Given the description of an element on the screen output the (x, y) to click on. 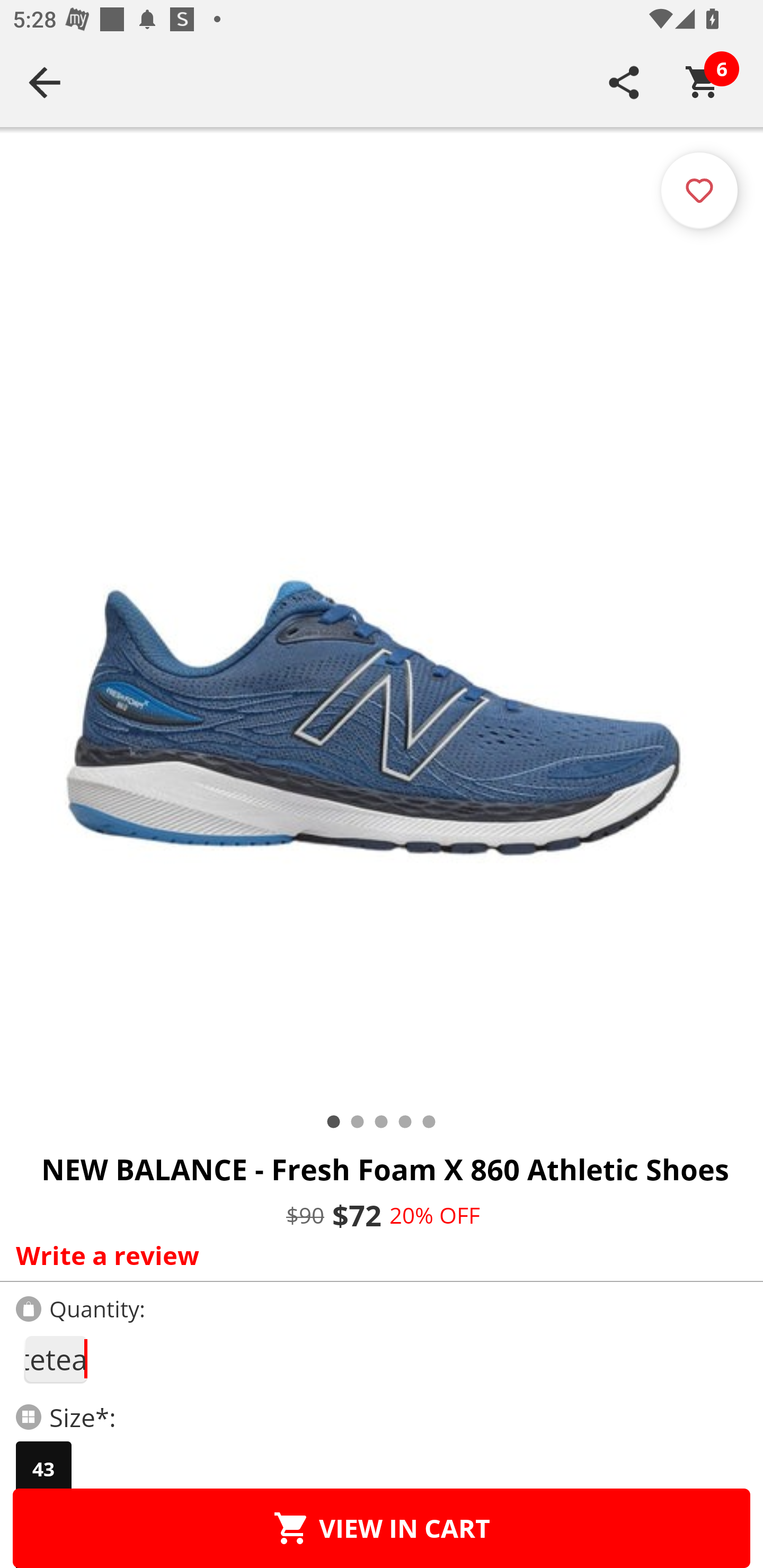
Navigate up (44, 82)
SHARE (623, 82)
Cart (703, 81)
Write a review (377, 1255)
1toothpastetea (55, 1358)
43 (43, 1468)
VIEW IN CART (381, 1528)
